Given the description of an element on the screen output the (x, y) to click on. 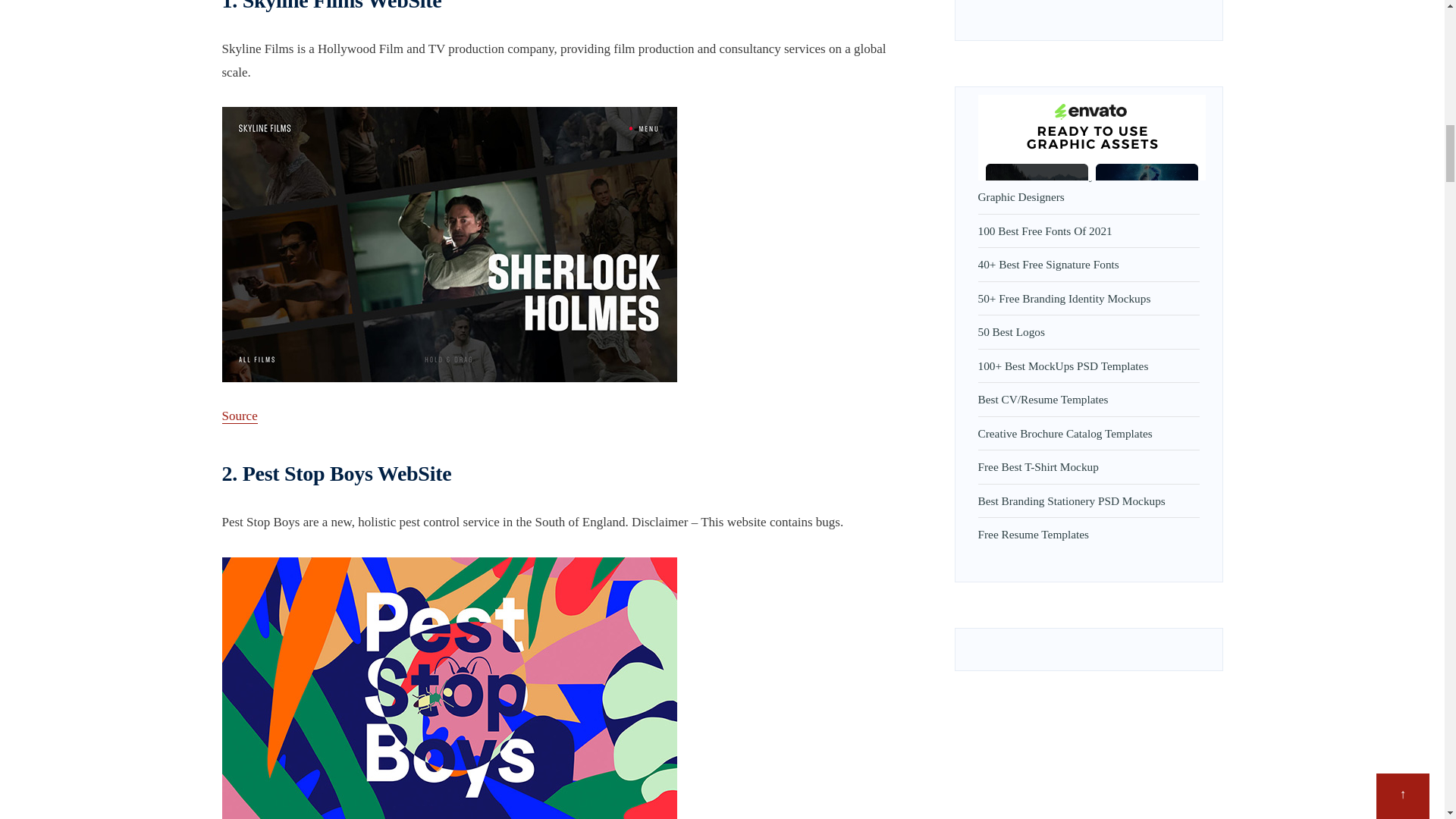
Web Design: 35 Modern Website Designs with Amazing UIUX - 2 (449, 688)
Web Design: 35 Modern Website Designs with Amazing UIUX - 1 (449, 244)
